Given the description of an element on the screen output the (x, y) to click on. 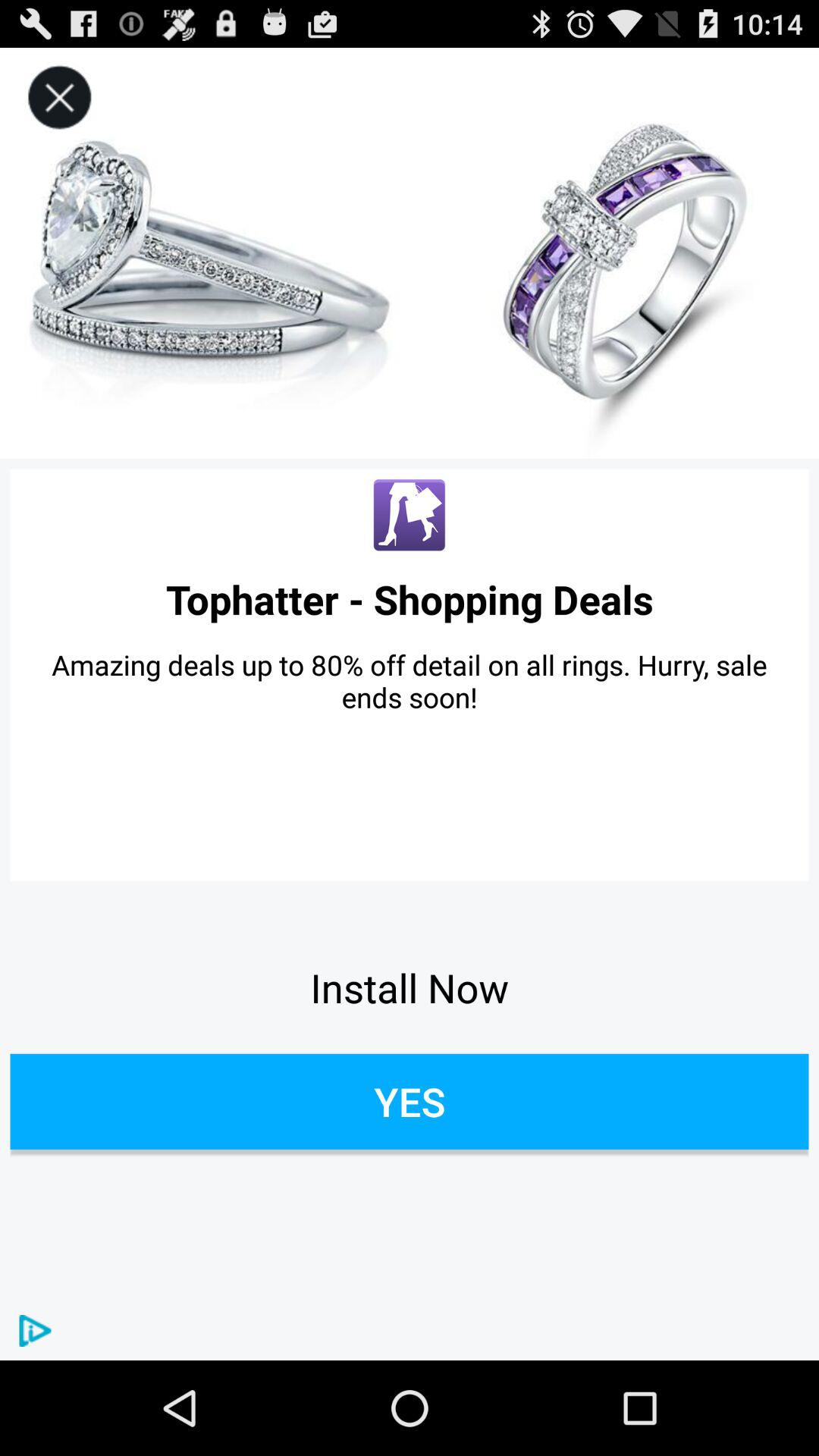
select the tophatter - shopping deals icon (409, 598)
